Given the description of an element on the screen output the (x, y) to click on. 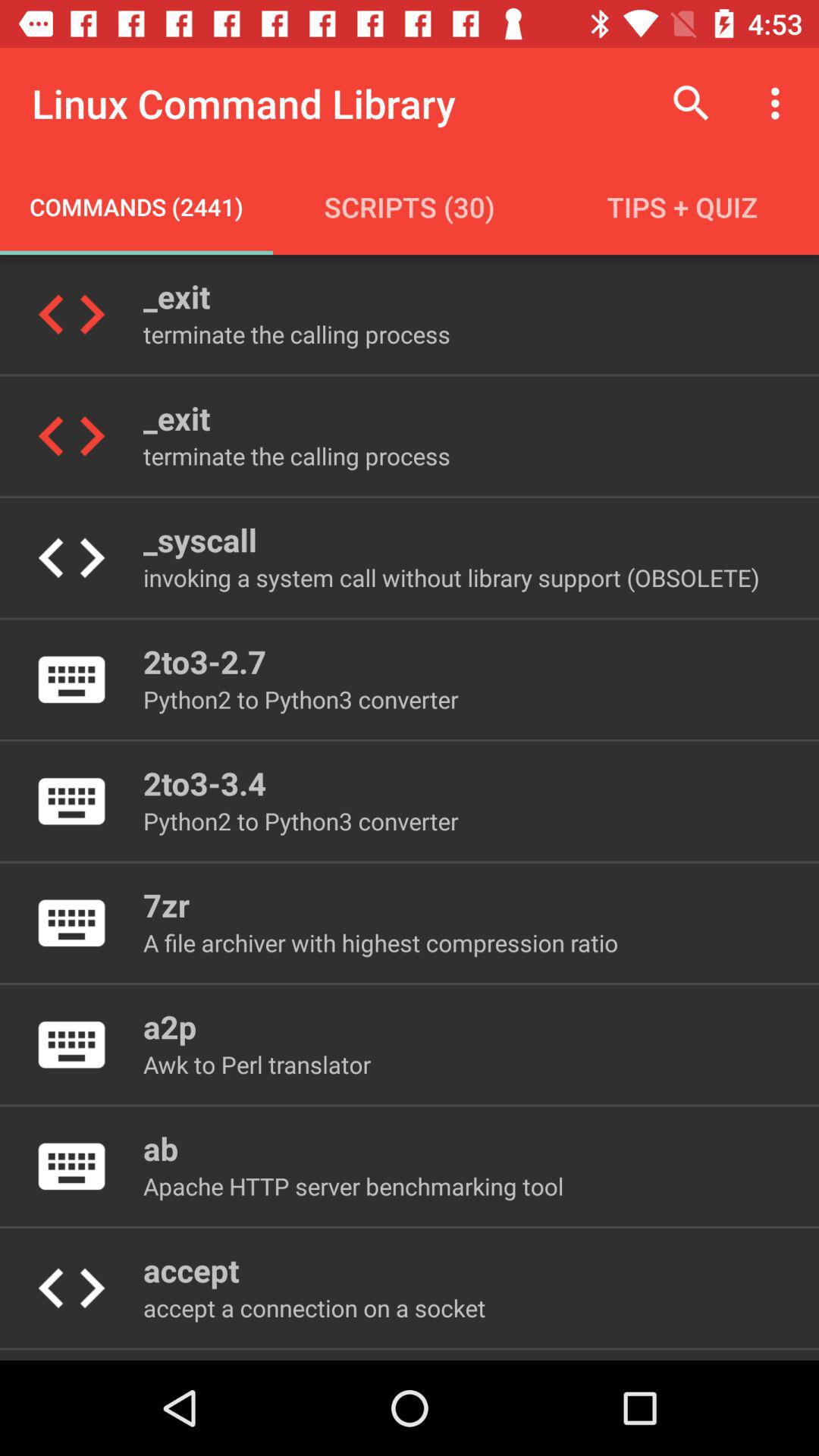
jump to invoking a system (451, 577)
